Given the description of an element on the screen output the (x, y) to click on. 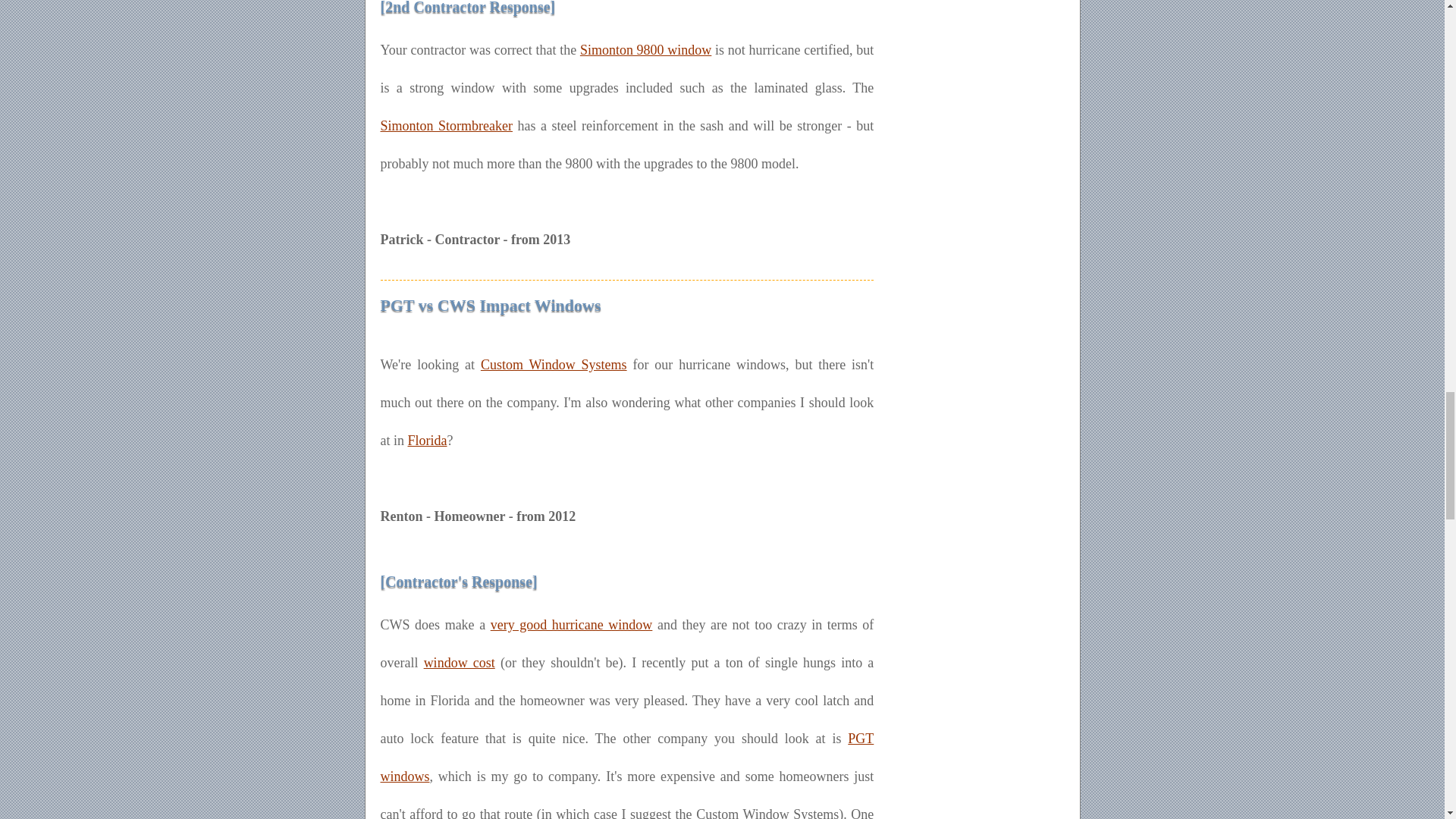
Simonton Stormbreaker (446, 125)
Custom Window Systems (553, 364)
very good hurricane window (571, 624)
window cost (459, 662)
Simonton 9800 window (645, 49)
PGT windows (627, 757)
Florida (426, 440)
